Given the description of an element on the screen output the (x, y) to click on. 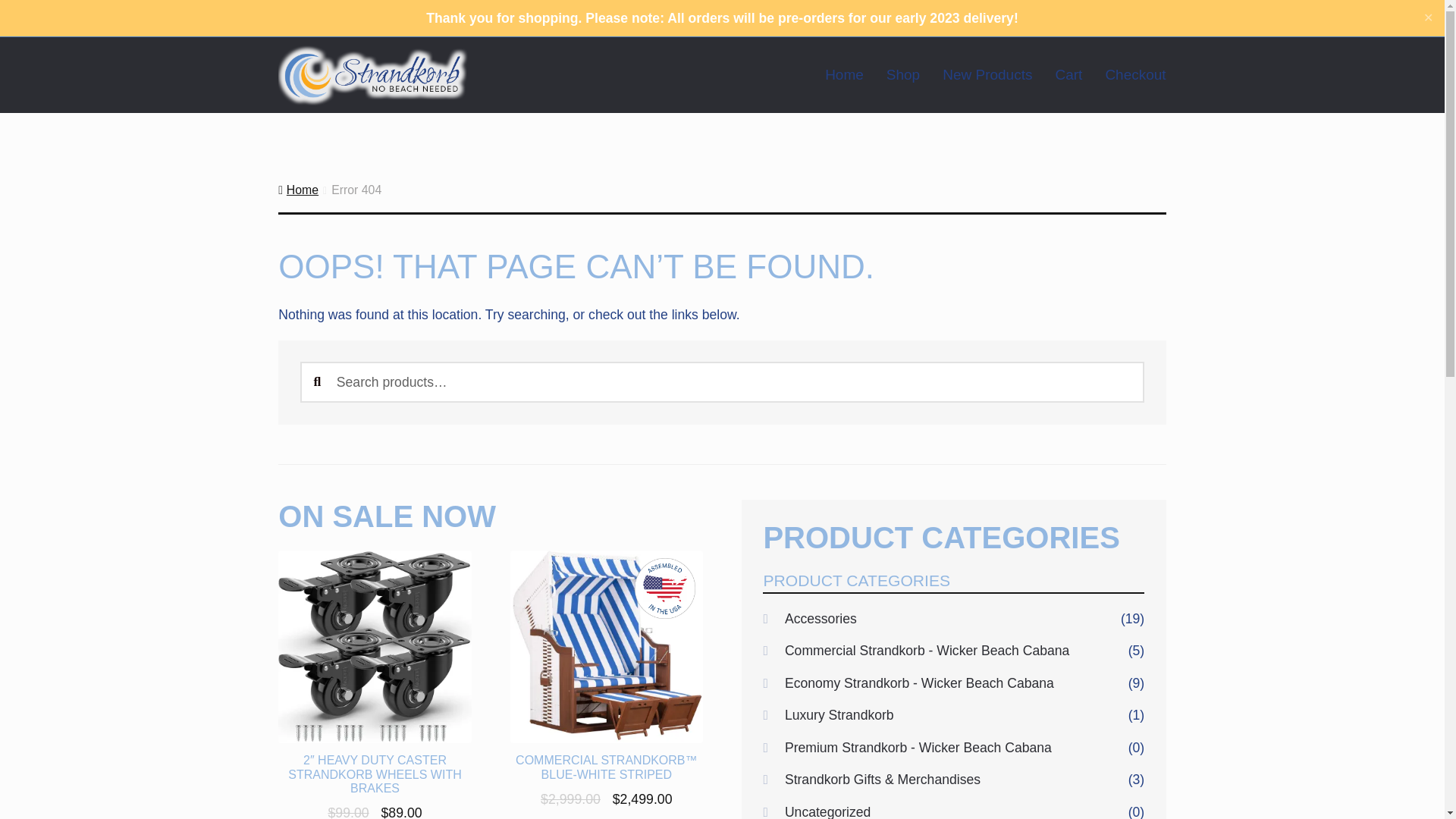
Cart (1056, 74)
Home (298, 189)
Accessories (820, 618)
View your shopping cart (1181, 18)
Uncategorized (827, 811)
My account (318, 17)
Home (832, 74)
Shop (891, 74)
Commercial Strandkorb - Wicker Beach Cabana (926, 650)
Luxury Strandkorb (838, 714)
Economy Strandkorb - Wicker Beach Cabana (919, 683)
Checkout (1123, 74)
New Products (976, 74)
Premium Strandkorb - Wicker Beach Cabana (917, 747)
